Given the description of an element on the screen output the (x, y) to click on. 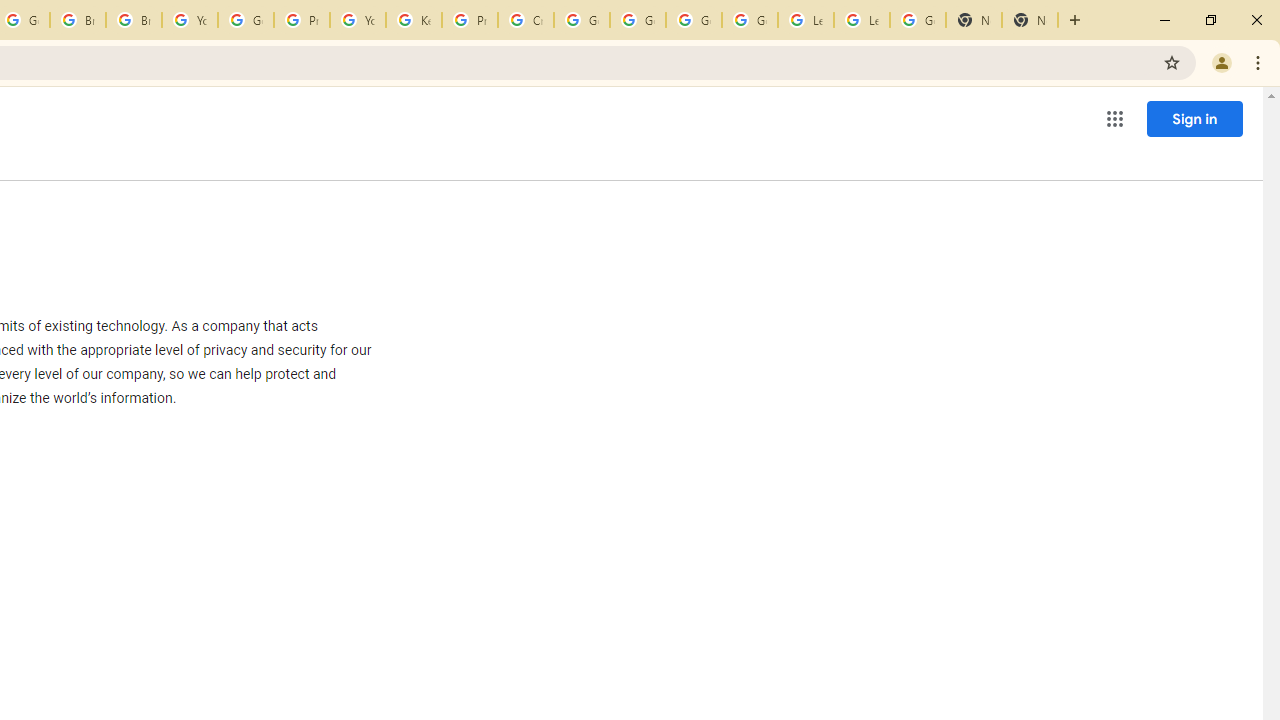
Google Account Help (637, 20)
Google Account Help (245, 20)
Brand Resource Center (77, 20)
Google Account Help (749, 20)
YouTube (358, 20)
